Given the description of an element on the screen output the (x, y) to click on. 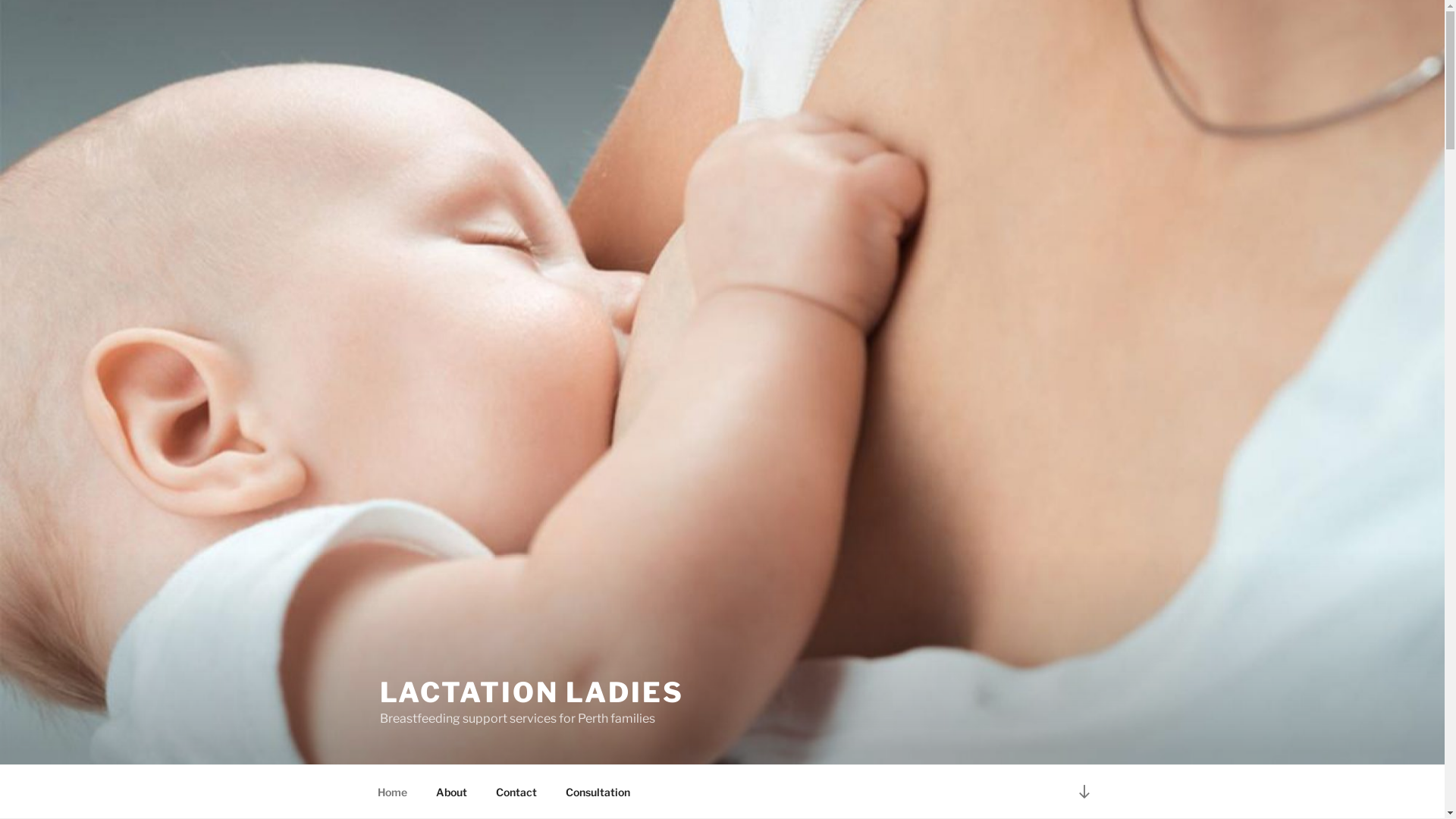
Contact Element type: text (515, 791)
Consultation Element type: text (597, 791)
Scroll down to content Element type: text (1083, 790)
LACTATION LADIES Element type: text (531, 692)
Home Element type: text (392, 791)
About Element type: text (451, 791)
